Given the description of an element on the screen output the (x, y) to click on. 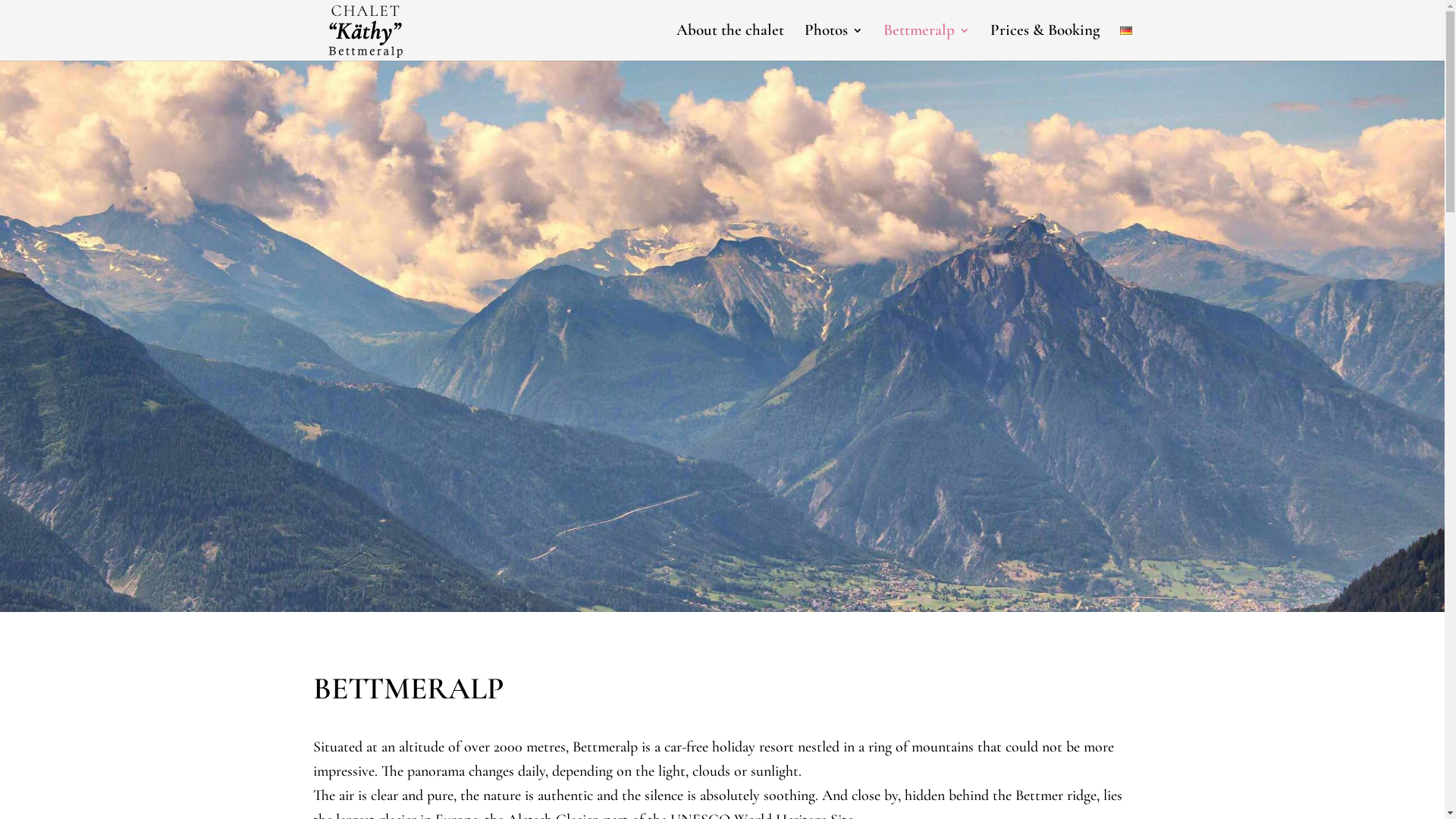
Photos Element type: text (832, 42)
Hero-Web Element type: hover (722, 366)
Bettmeralp Element type: text (925, 42)
Prices & Booking Element type: text (1044, 42)
About the chalet Element type: text (730, 42)
